Given the description of an element on the screen output the (x, y) to click on. 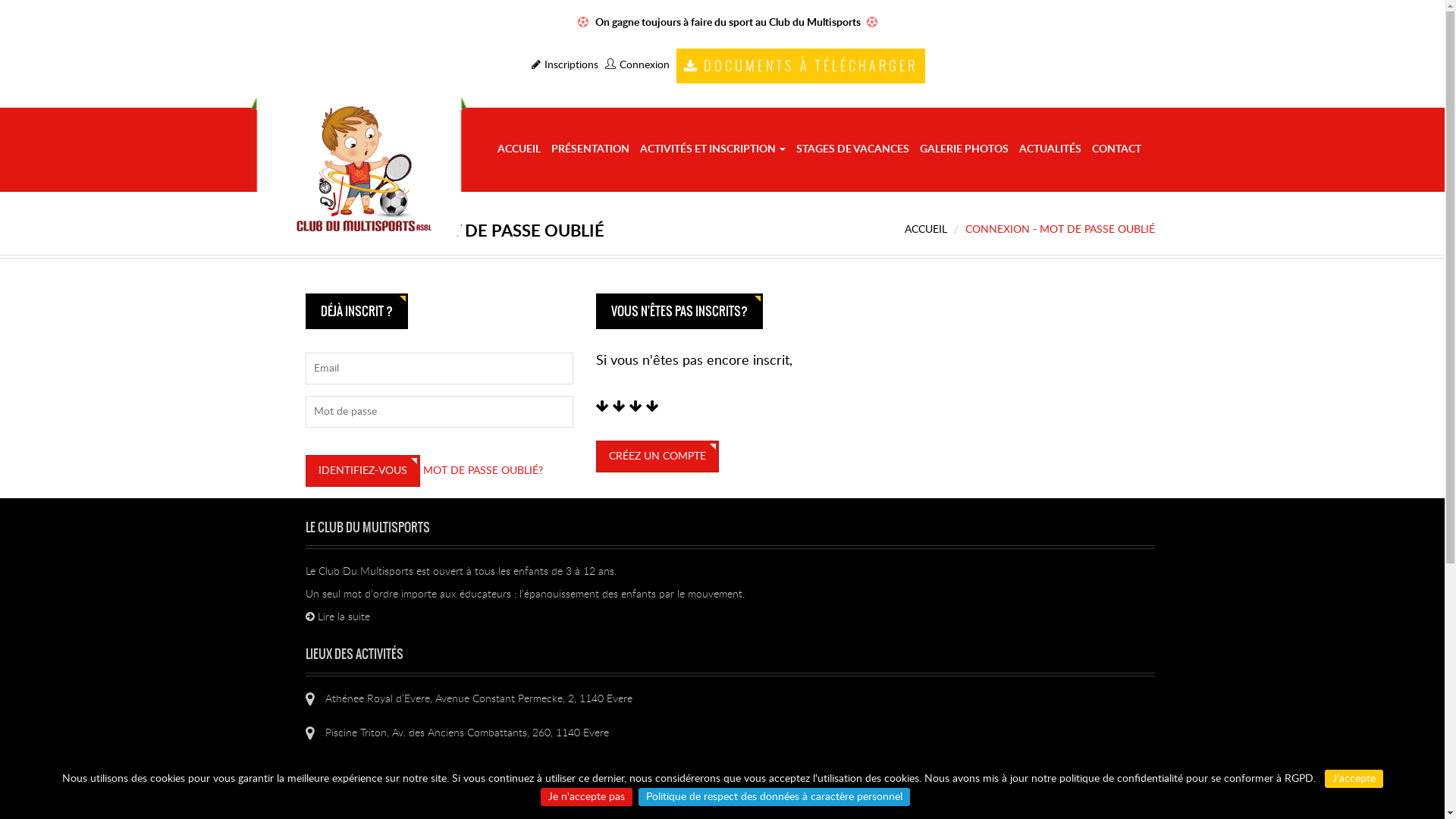
ACCUEIL Element type: text (924, 229)
ACCUEIL Element type: text (518, 149)
J'accepte Element type: text (1353, 778)
CONTACT Element type: text (1115, 149)
STAGES DE VACANCES Element type: text (851, 149)
Inscriptions Element type: text (563, 64)
Lire la suite Element type: text (336, 616)
GALERIE PHOTOS Element type: text (963, 149)
Je n'accepte pas Element type: text (586, 796)
Connexion Element type: text (637, 64)
IDENTIFIEZ-VOUS Element type: text (361, 470)
